Given the description of an element on the screen output the (x, y) to click on. 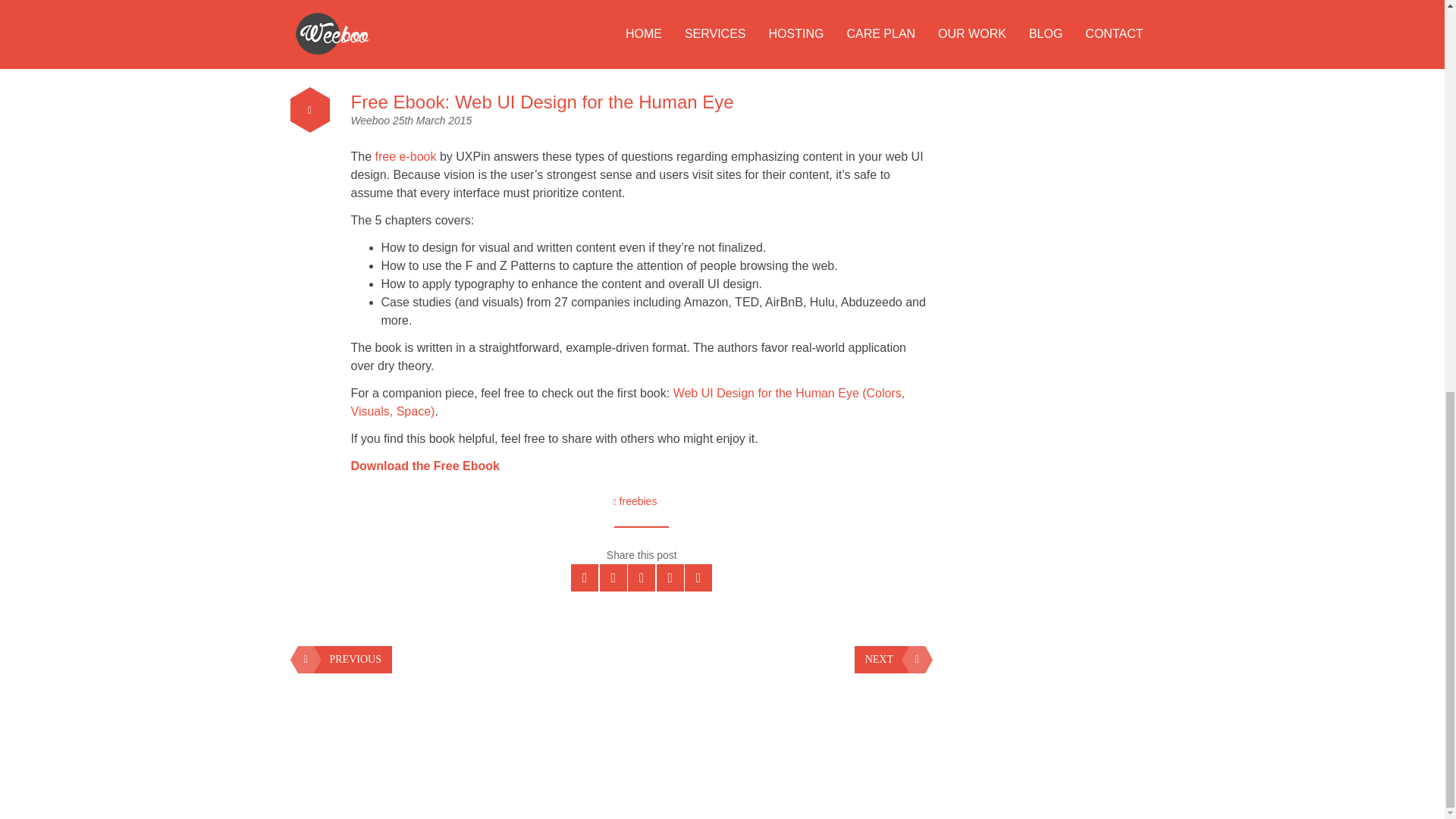
freebies (639, 500)
NEXT (889, 659)
Permalink to Free Ebook: Web UI Design for the Human Eye (541, 101)
Weeboo (370, 120)
free e-book (405, 155)
PREVIOUS (344, 659)
Download the Free Ebook (424, 465)
Free Ebook: Web UI Design for the Human Eye (541, 101)
